Given the description of an element on the screen output the (x, y) to click on. 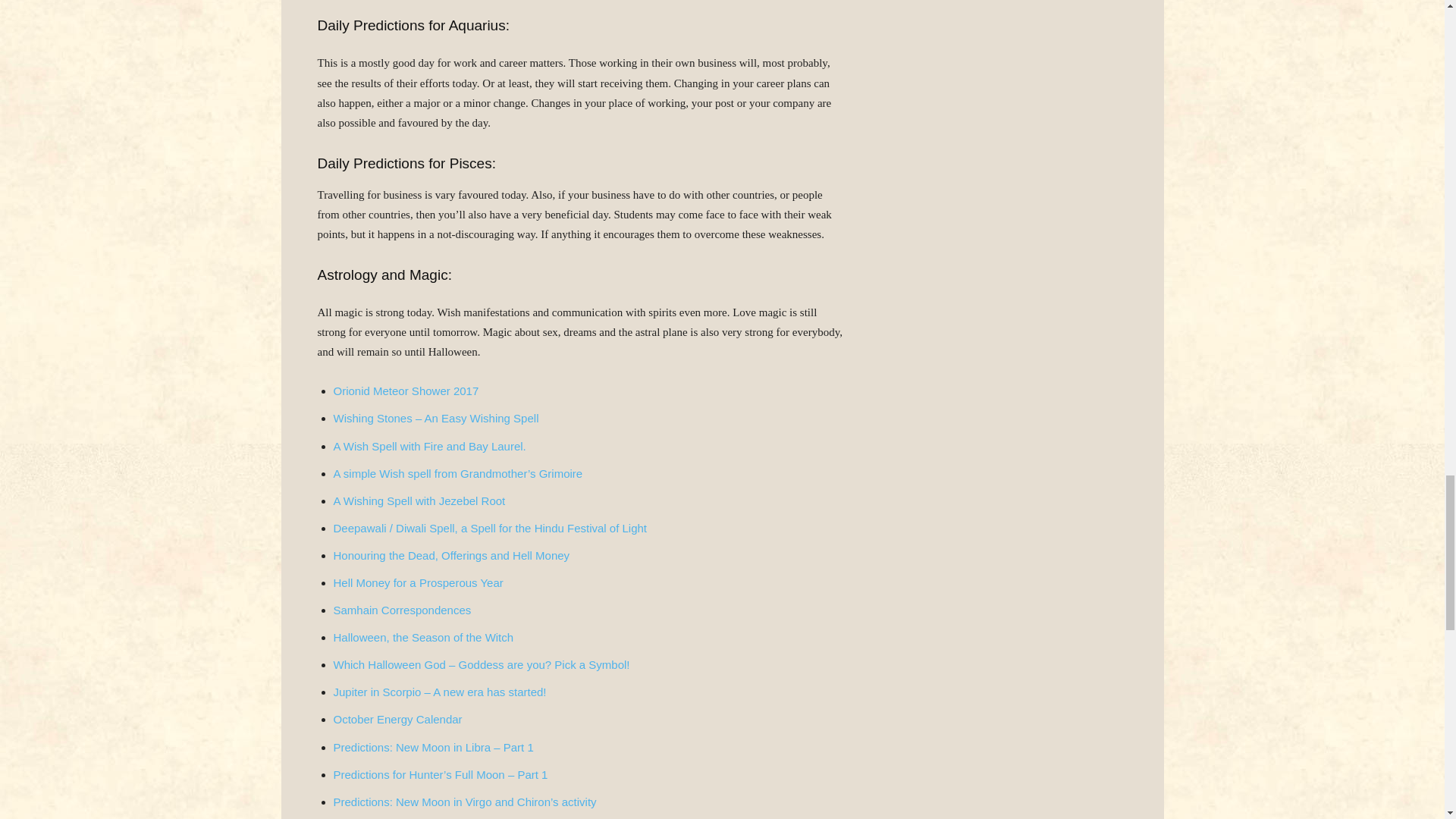
Orionid Meteor Shower 2017 (406, 390)
Hell Money for a Prosperous Year (418, 582)
Honouring the Dead, Offerings and Hell Money (451, 554)
A Wish Spell with Fire and Bay Laurel. (429, 445)
A Wishing Spell with Jezebel Root (419, 500)
